Given the description of an element on the screen output the (x, y) to click on. 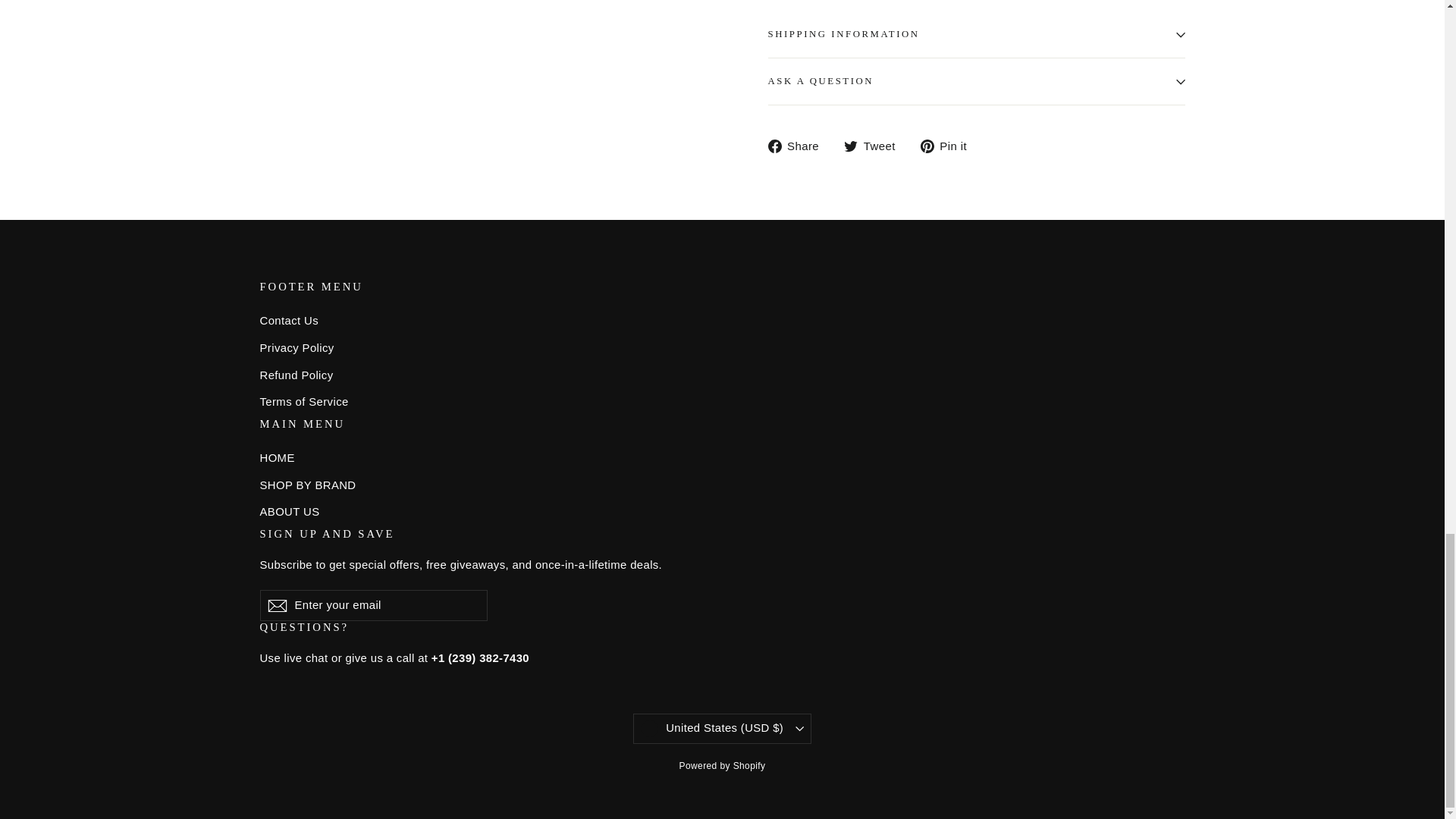
twitter (850, 146)
icon-email (276, 606)
Share on Facebook (798, 145)
Tweet on Twitter (875, 145)
Pin on Pinterest (949, 145)
